Given the description of an element on the screen output the (x, y) to click on. 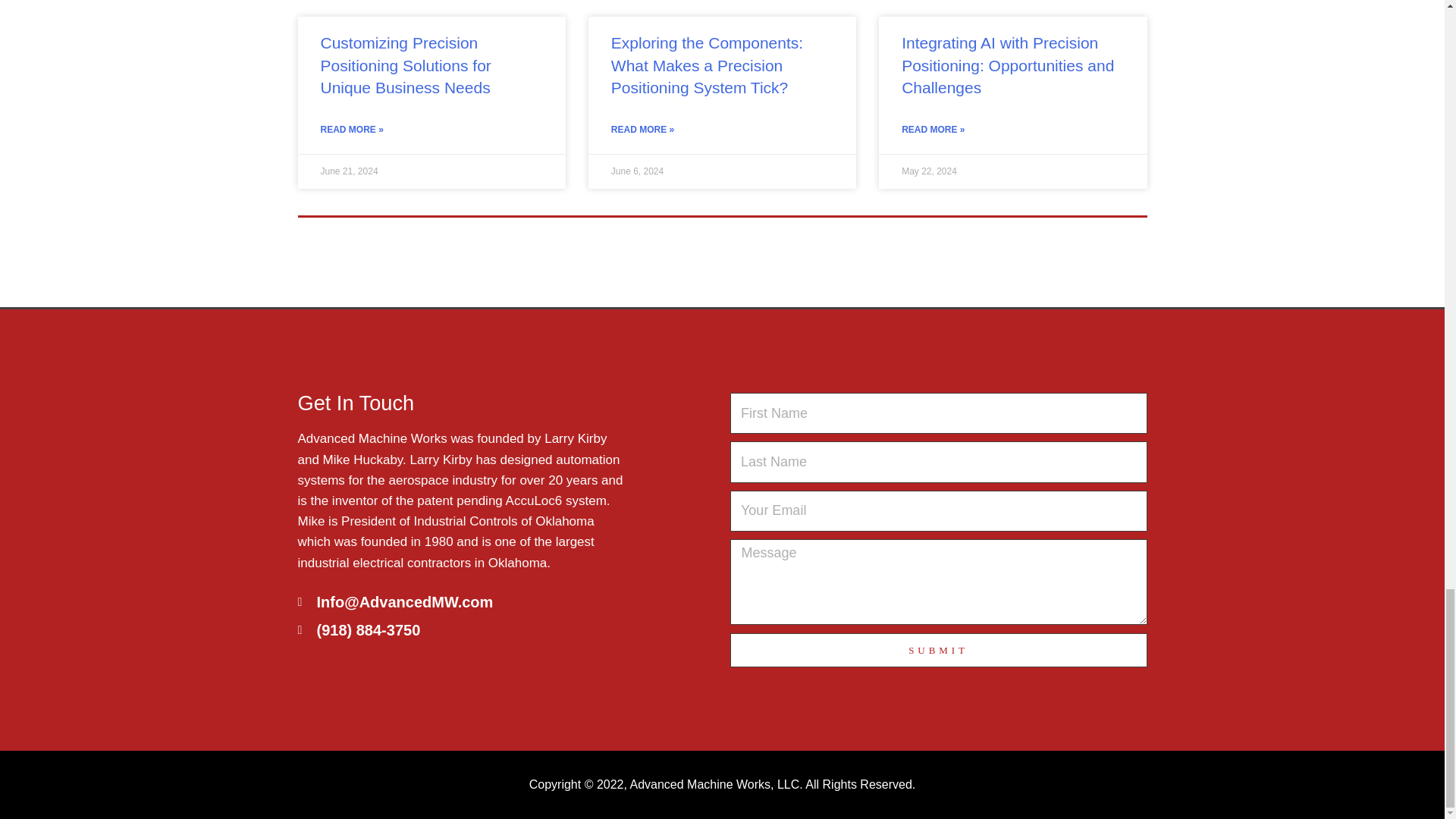
SUBMIT (938, 650)
